Given the description of an element on the screen output the (x, y) to click on. 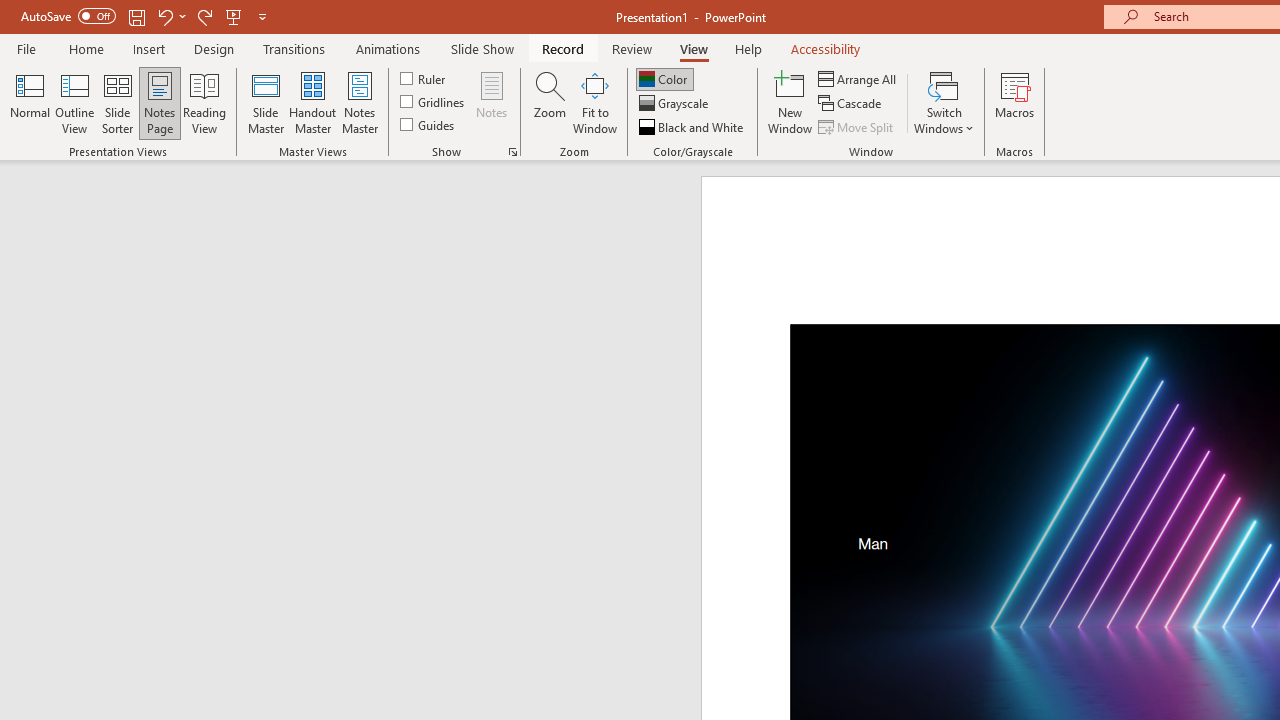
Grid Settings... (512, 151)
Move Split (857, 126)
Arrange All (858, 78)
Handout Master (312, 102)
Switch Windows (943, 102)
Gridlines (433, 101)
Slide Master (265, 102)
